Given the description of an element on the screen output the (x, y) to click on. 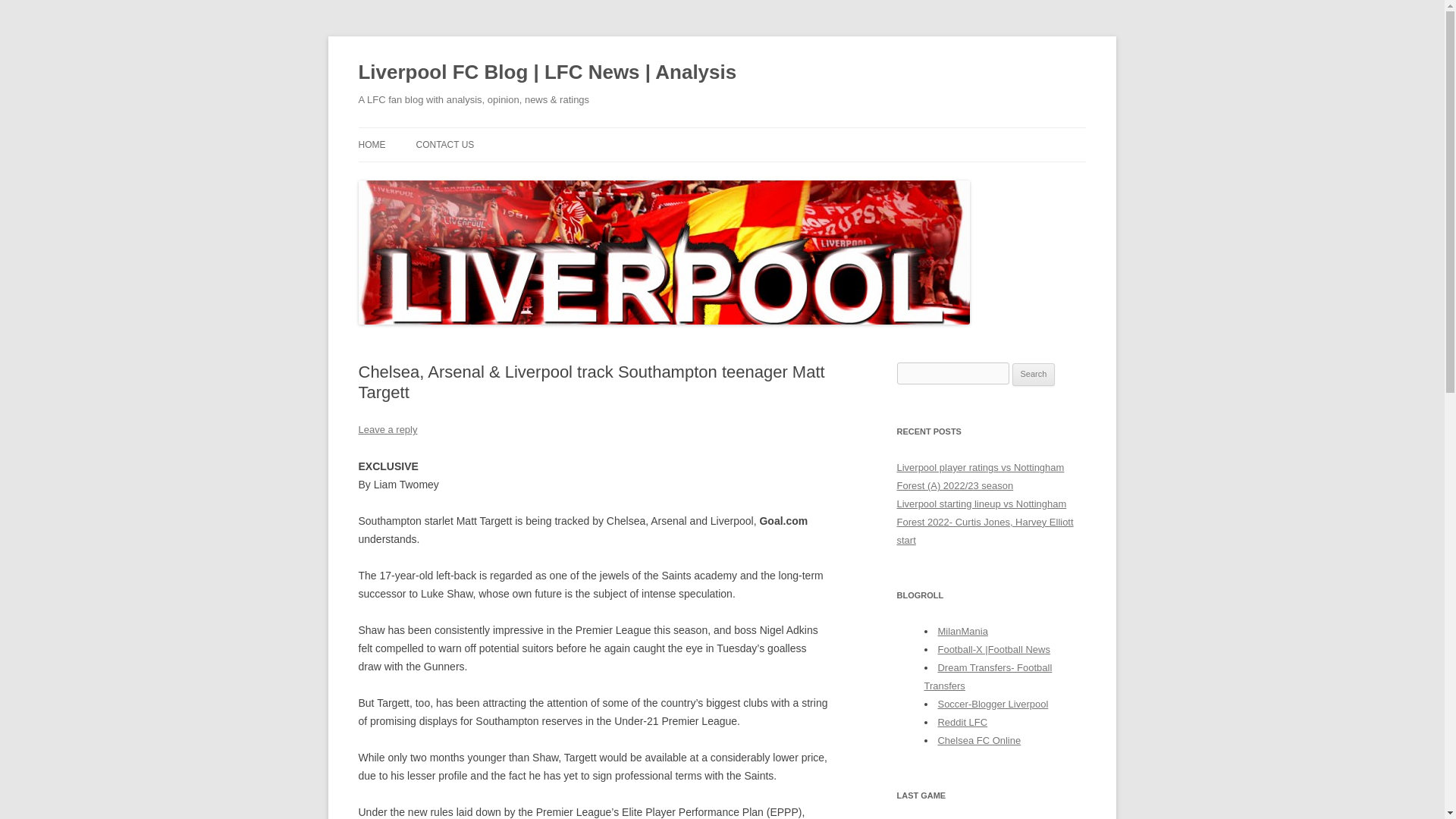
Search (1033, 374)
Reddit LFC (962, 722)
MilanMania (962, 631)
Search (1033, 374)
Leave a reply (387, 429)
Chelsea FC Online (978, 740)
CONTACT US (444, 144)
Dream Transfers- Football Transfers (987, 676)
